Given the description of an element on the screen output the (x, y) to click on. 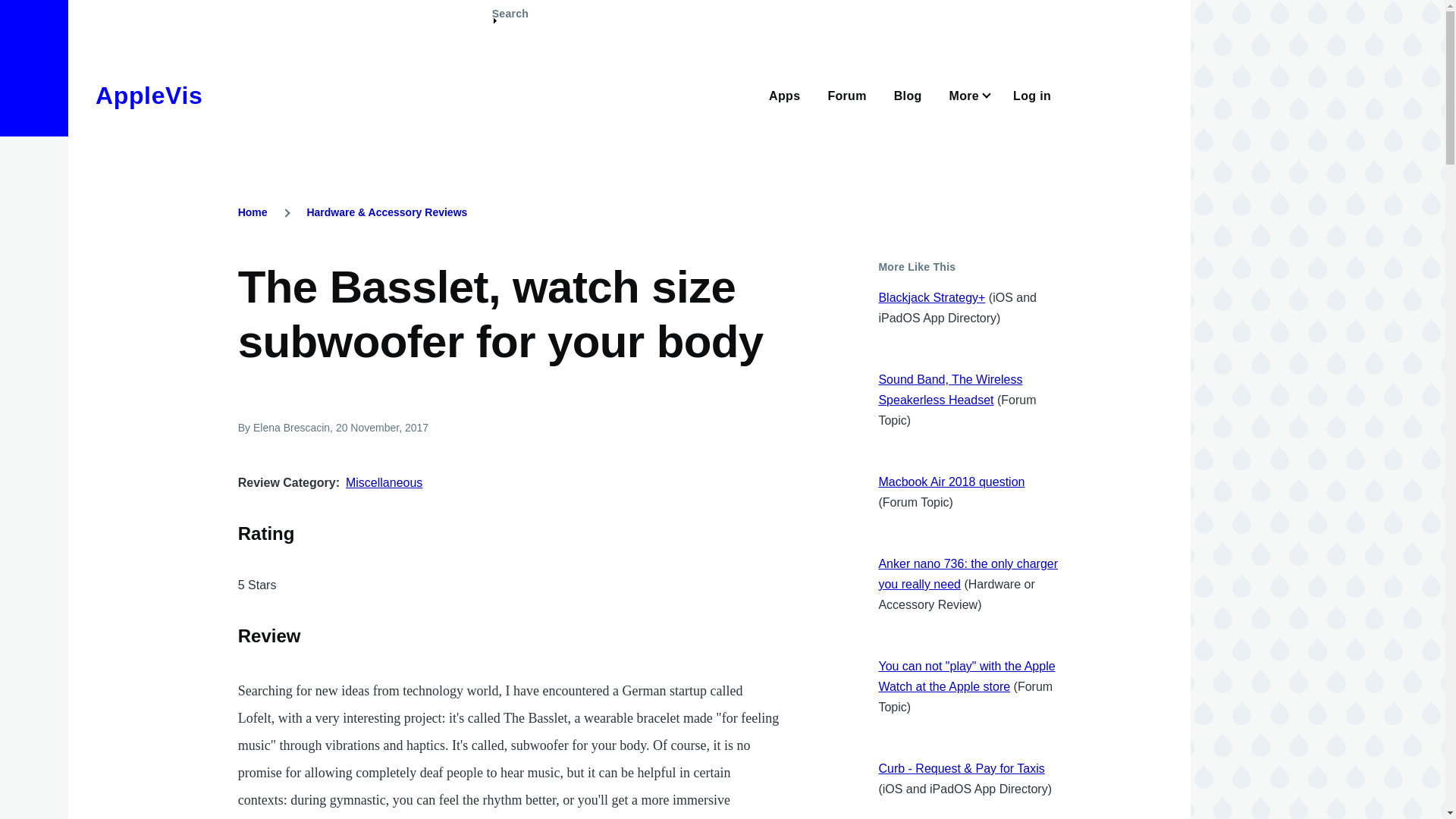
You can not "play" with the Apple Watch at the Apple store (965, 676)
Search (510, 20)
Anker nano 736: the only charger you really need (967, 573)
Home (149, 94)
Skip to main content (595, 6)
AppleVis (149, 94)
Miscellaneous (384, 481)
Sound Band, The Wireless Speakerless Headset (949, 389)
Home (252, 212)
Macbook Air 2018 question (951, 481)
